Given the description of an element on the screen output the (x, y) to click on. 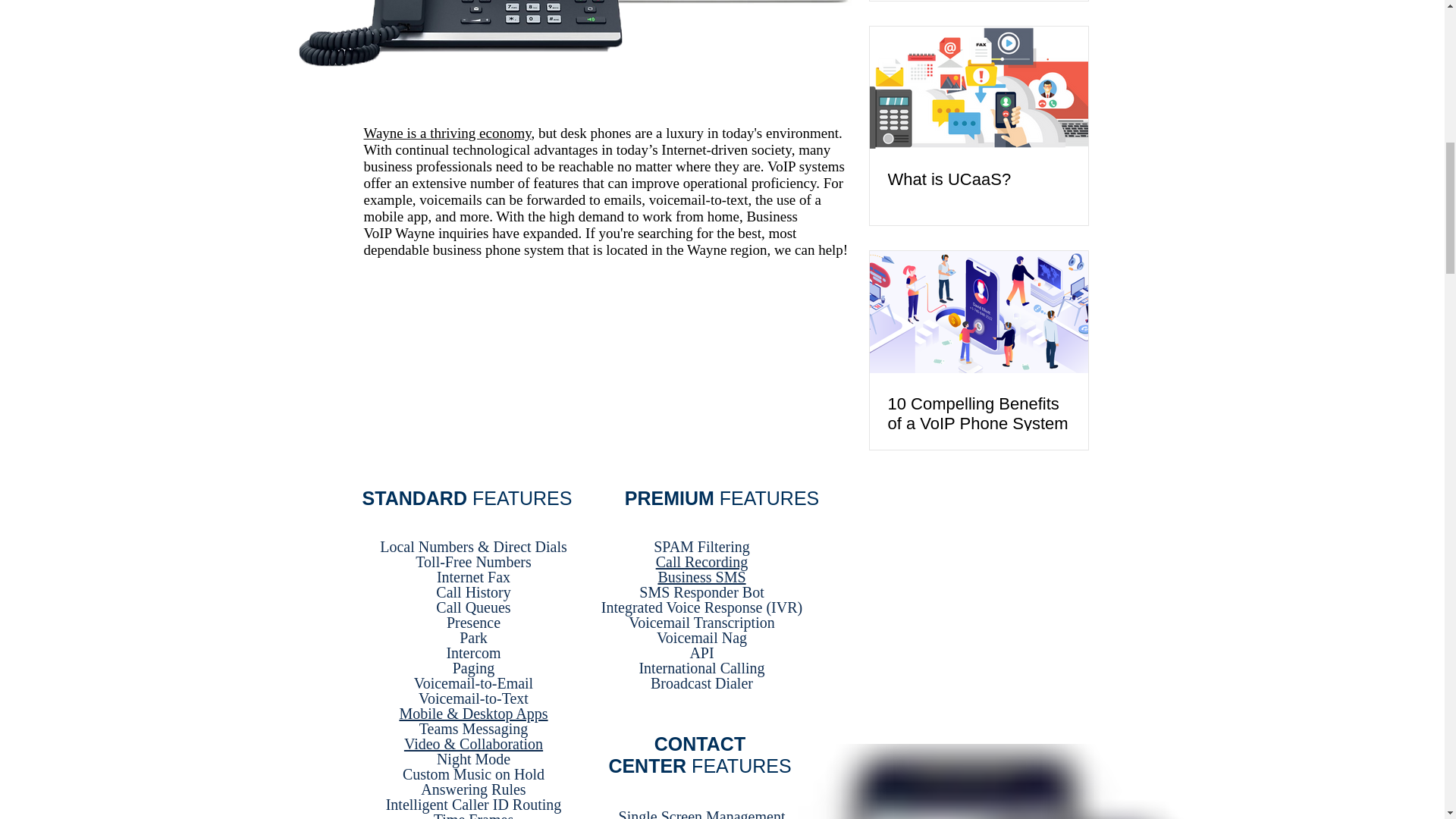
10 Compelling Benefits of a VoIP Phone System (977, 413)
Business SMS (701, 576)
Wayne is a thriving economy (447, 132)
Call Recording (702, 561)
What is UCaaS? (977, 179)
